Given the description of an element on the screen output the (x, y) to click on. 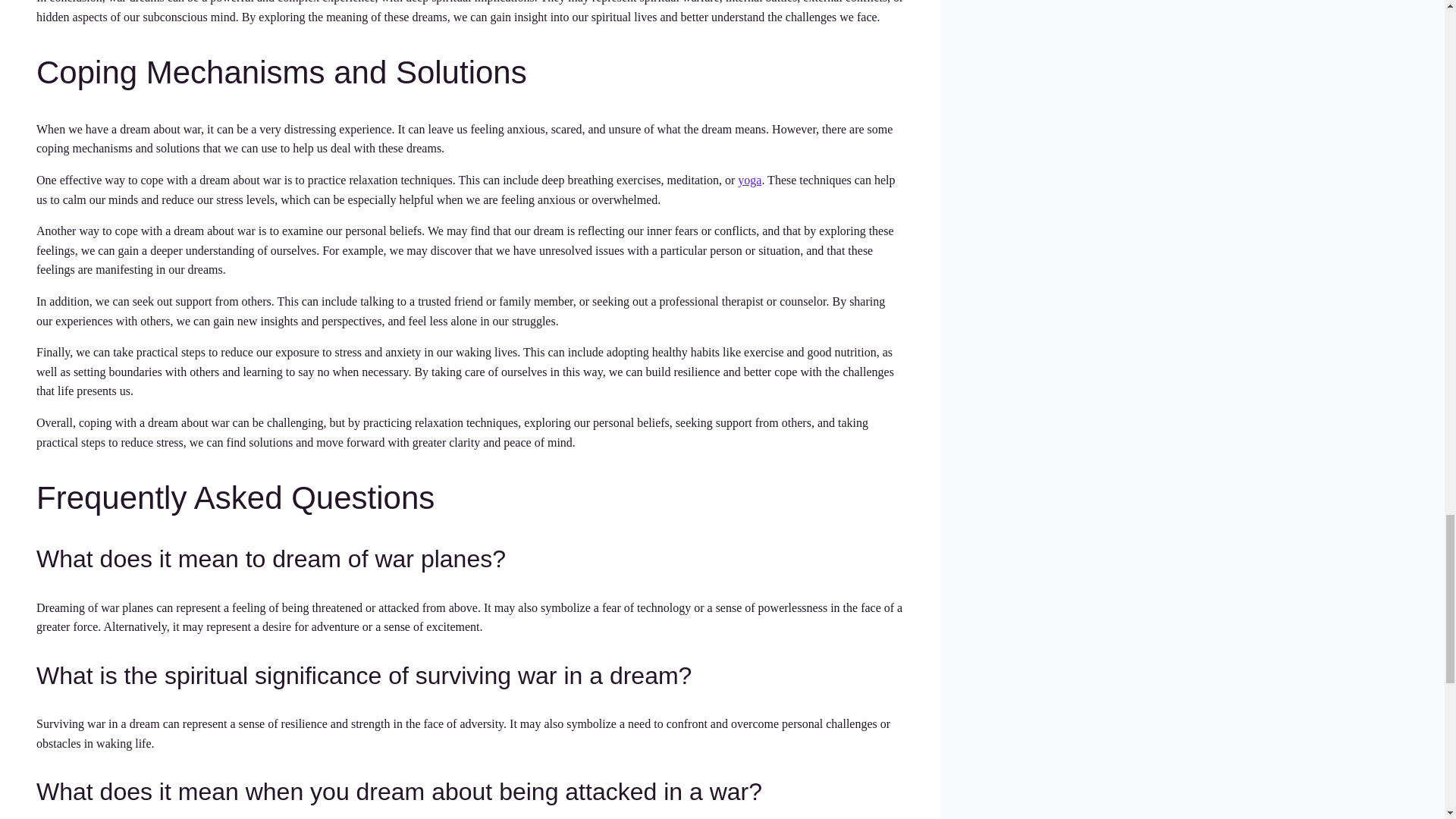
yoga (749, 179)
Posts tagged with Yoga (749, 179)
